Given the description of an element on the screen output the (x, y) to click on. 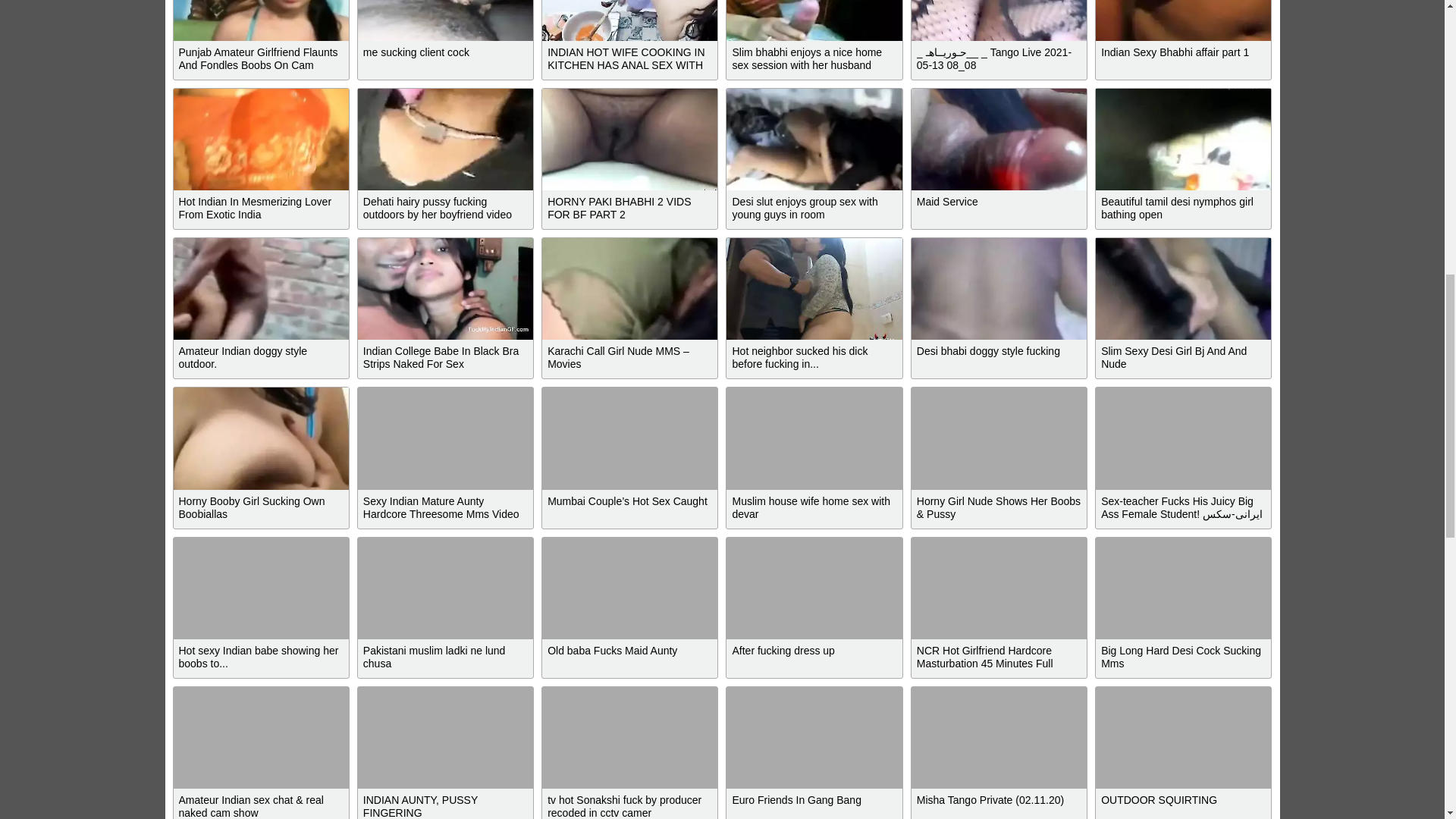
Slim bhabhi enjoys a nice home sex session with her husband (813, 20)
Horny Booby Girl Sucking Own Boobiallas (260, 437)
Dehati hairy pussy fucking outdoors by her boyfriend video (445, 139)
Amateur Indian doggy style outdoor. (260, 288)
Desi bhabi doggy style fucking (998, 288)
Punjab Amateur Girlfriend Flaunts And Fondles Boobs On Cam (260, 20)
me sucking client cock (445, 20)
Indian Sexy Bhabhi affair part 1 (1183, 20)
Slim Sexy Desi Girl Bj And And Nude (1183, 288)
Indian College Babe In Black Bra Strips Naked For Sex (445, 288)
HORNY PAKI BHABHI 2 VIDS FOR BF PART 2 (629, 139)
Hot Indian In Mesmerizing Lover From Exotic India (260, 139)
Desi slut enjoys group sex with young guys in room (813, 139)
Maid Service (998, 139)
